Given the description of an element on the screen output the (x, y) to click on. 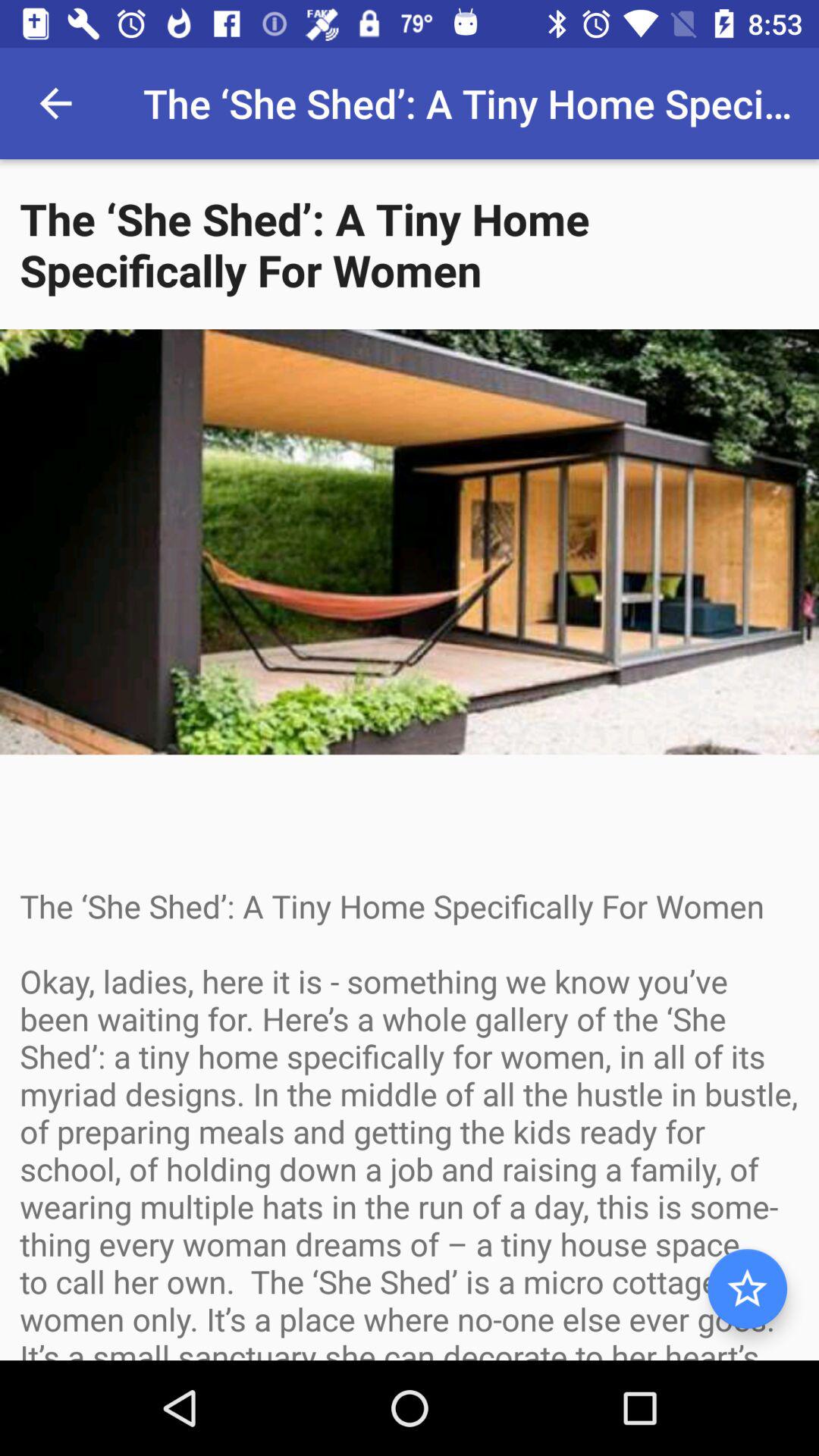
choose icon to the left of the she shed (55, 103)
